Given the description of an element on the screen output the (x, y) to click on. 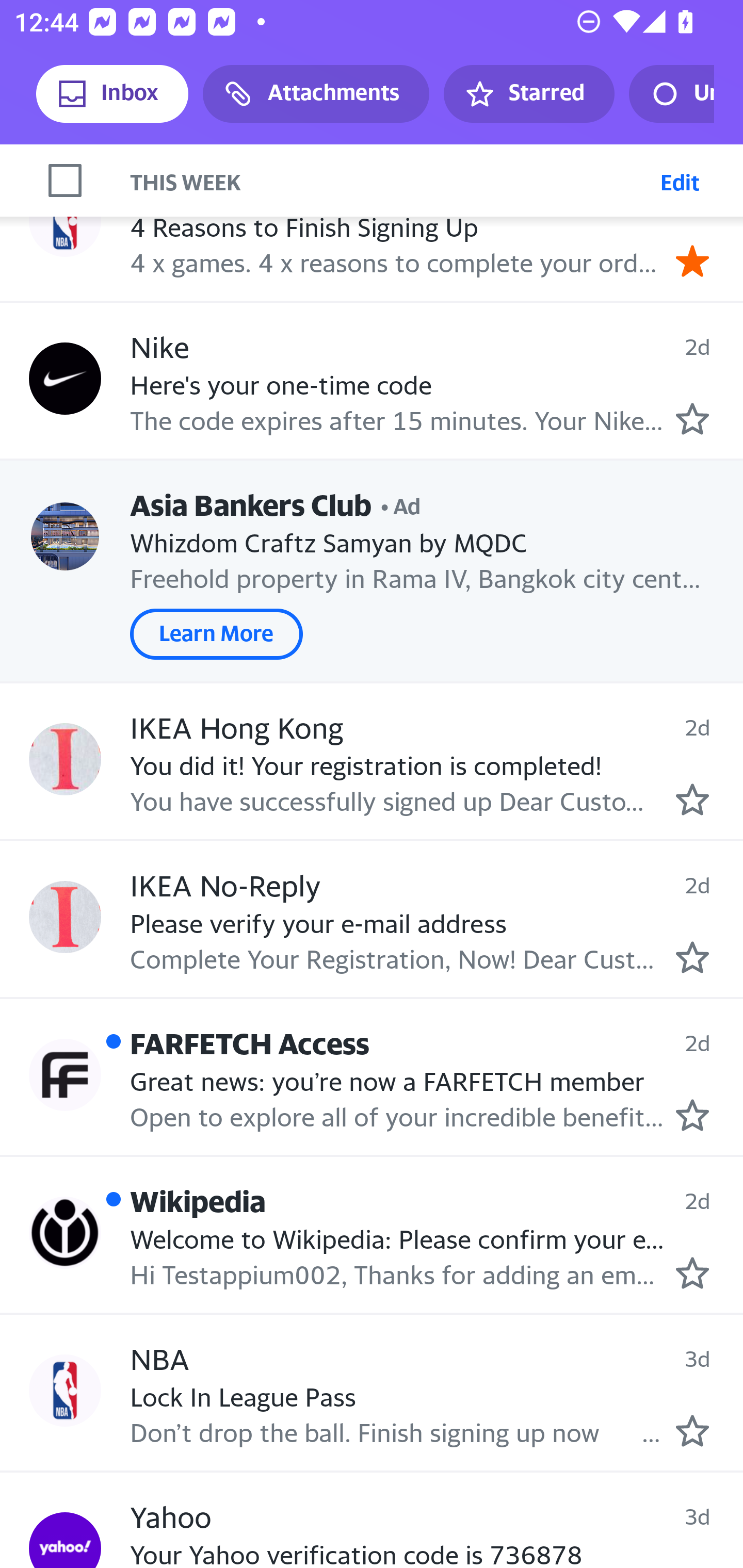
Attachments (315, 93)
Starred (528, 93)
Remove star. (692, 261)
Profile
Nike (64, 377)
Mark as starred. (692, 419)
Profile
IKEA Hong Kong (64, 758)
Mark as starred. (692, 798)
Profile
IKEA No-Reply (64, 917)
Mark as starred. (692, 957)
Profile
FARFETCH Access (64, 1074)
Mark as starred. (692, 1115)
Profile
Wikipedia (64, 1232)
Mark as starred. (692, 1272)
Profile
NBA (64, 1390)
Mark as starred. (692, 1430)
Profile
Yahoo (64, 1539)
